Given the description of an element on the screen output the (x, y) to click on. 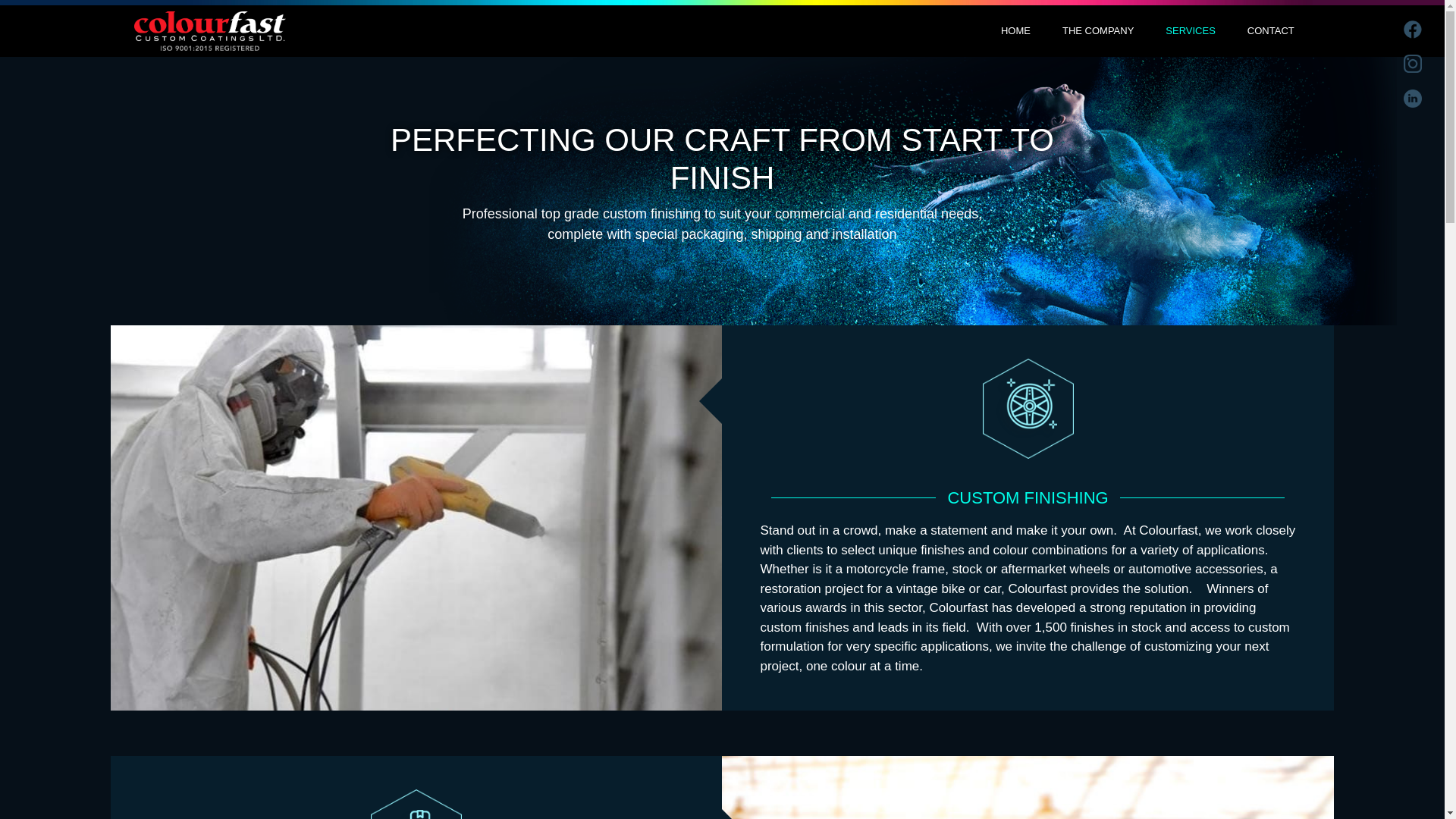
HOME (1015, 30)
SERVICES (1190, 30)
THE COMPANY (1098, 30)
CONTACT (1270, 30)
